Given the description of an element on the screen output the (x, y) to click on. 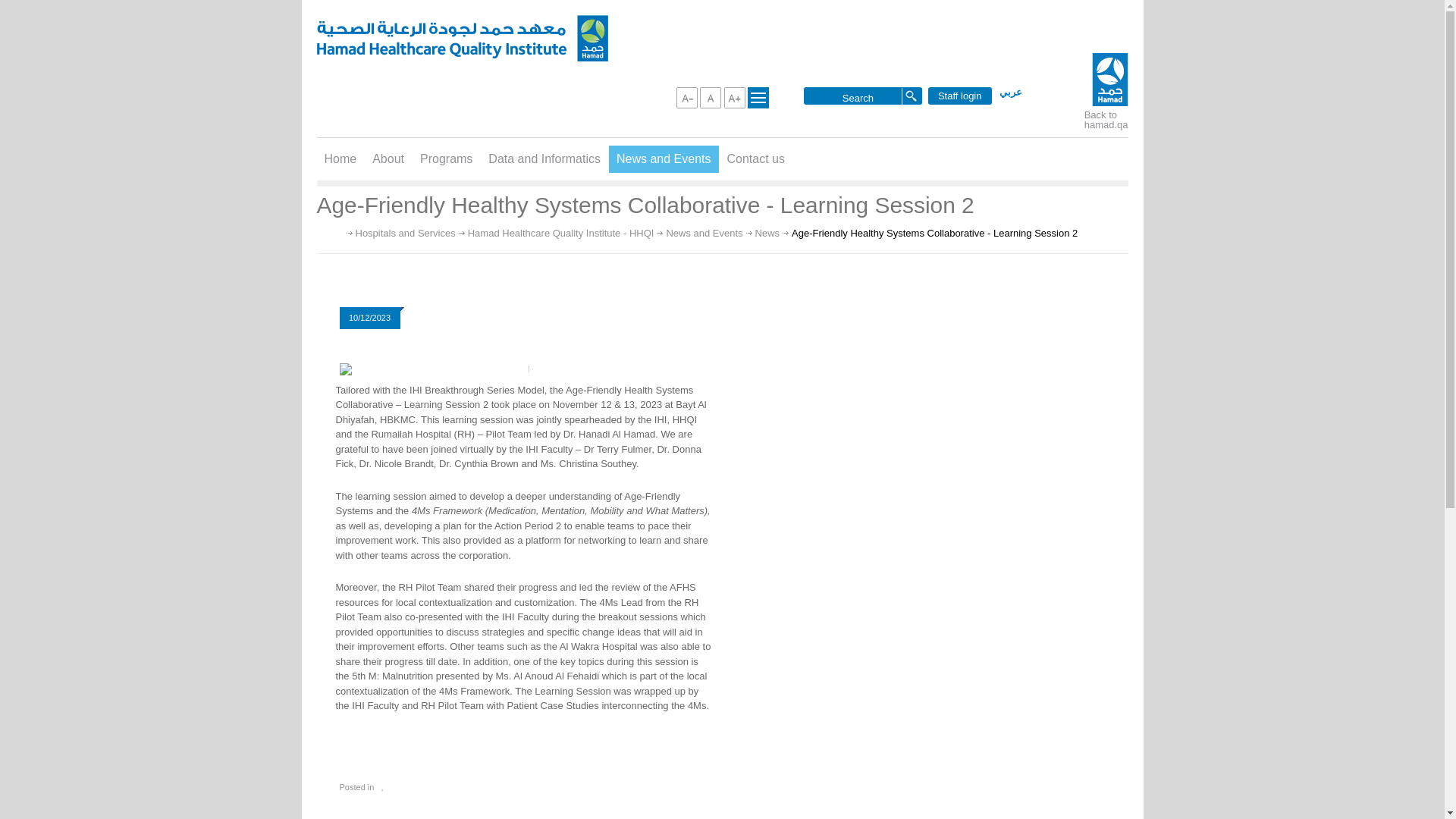
Font resize (734, 97)
Home (341, 158)
News and Events (703, 233)
Hamad Healthcare Quality Institute - HHQI (560, 233)
Programs (446, 158)
About (388, 158)
Data and Informatics (544, 158)
Font resize (687, 97)
Font resize (710, 97)
Staff login (959, 95)
News (767, 233)
Hospitals and Services (404, 233)
Search (857, 97)
News and Events (663, 158)
Contact us (755, 158)
